Given the description of an element on the screen output the (x, y) to click on. 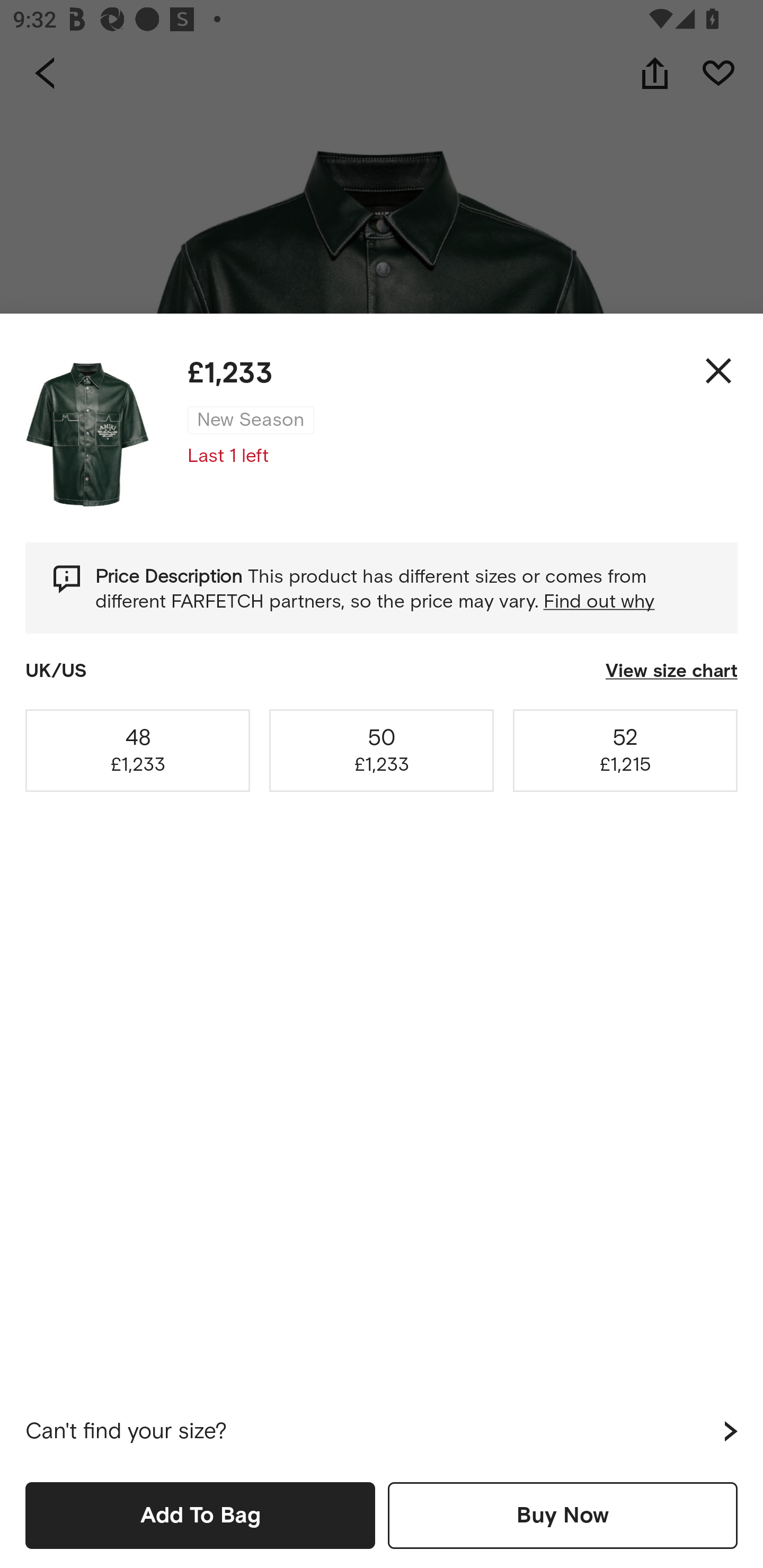
48 £1,233 (137, 749)
50 £1,233 (381, 749)
52 £1,215 (624, 749)
Can't find your size? (381, 1431)
Add To Bag (200, 1515)
Buy Now (562, 1515)
